Given the description of an element on the screen output the (x, y) to click on. 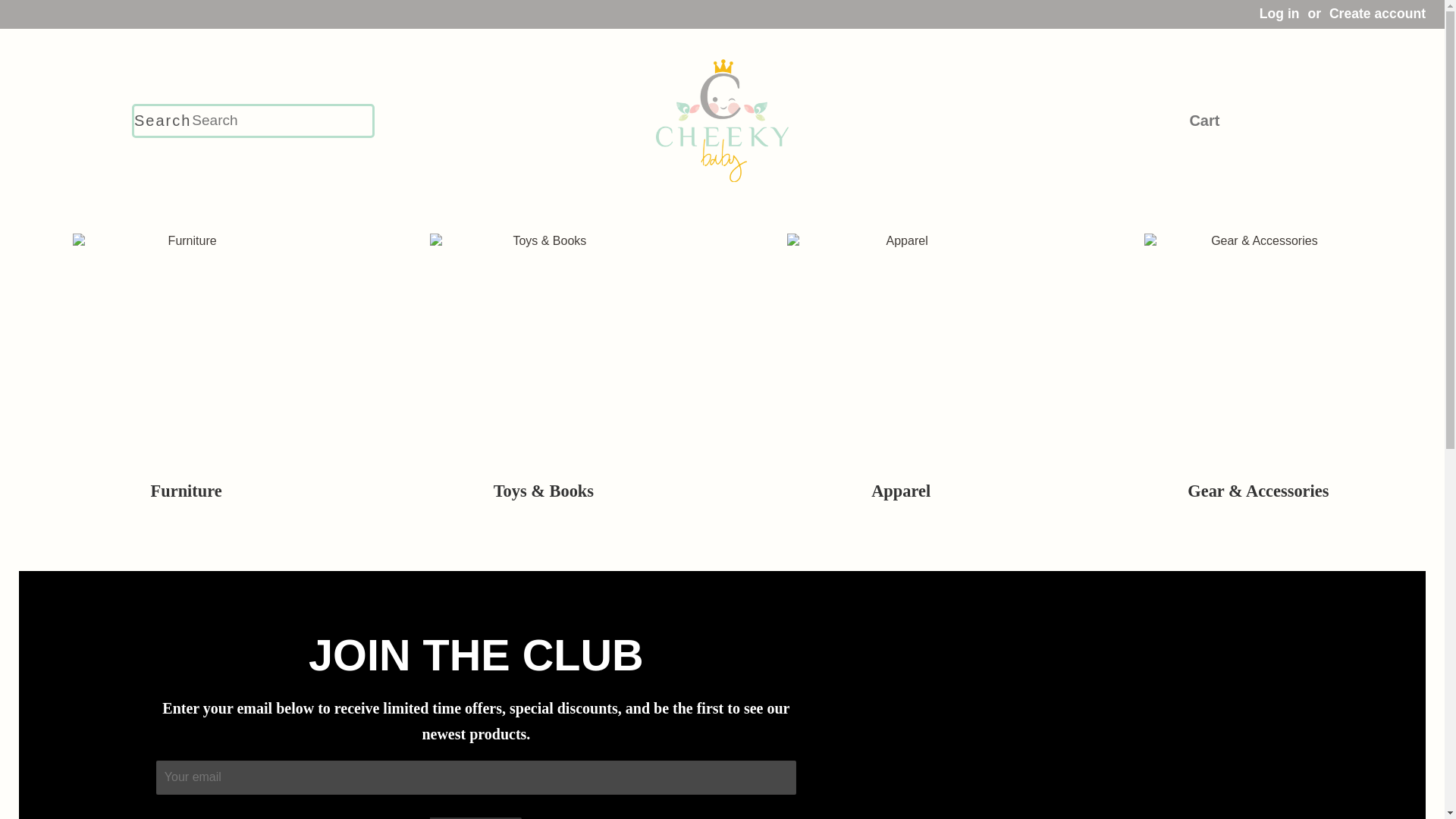
Browse our Furniture collection (185, 381)
Create account (1377, 13)
Search (161, 120)
Browse our Apparel collection (900, 381)
Subscribe (475, 818)
Apparel (900, 381)
Cart (1204, 120)
Furniture (185, 381)
Log in (1279, 13)
